Given the description of an element on the screen output the (x, y) to click on. 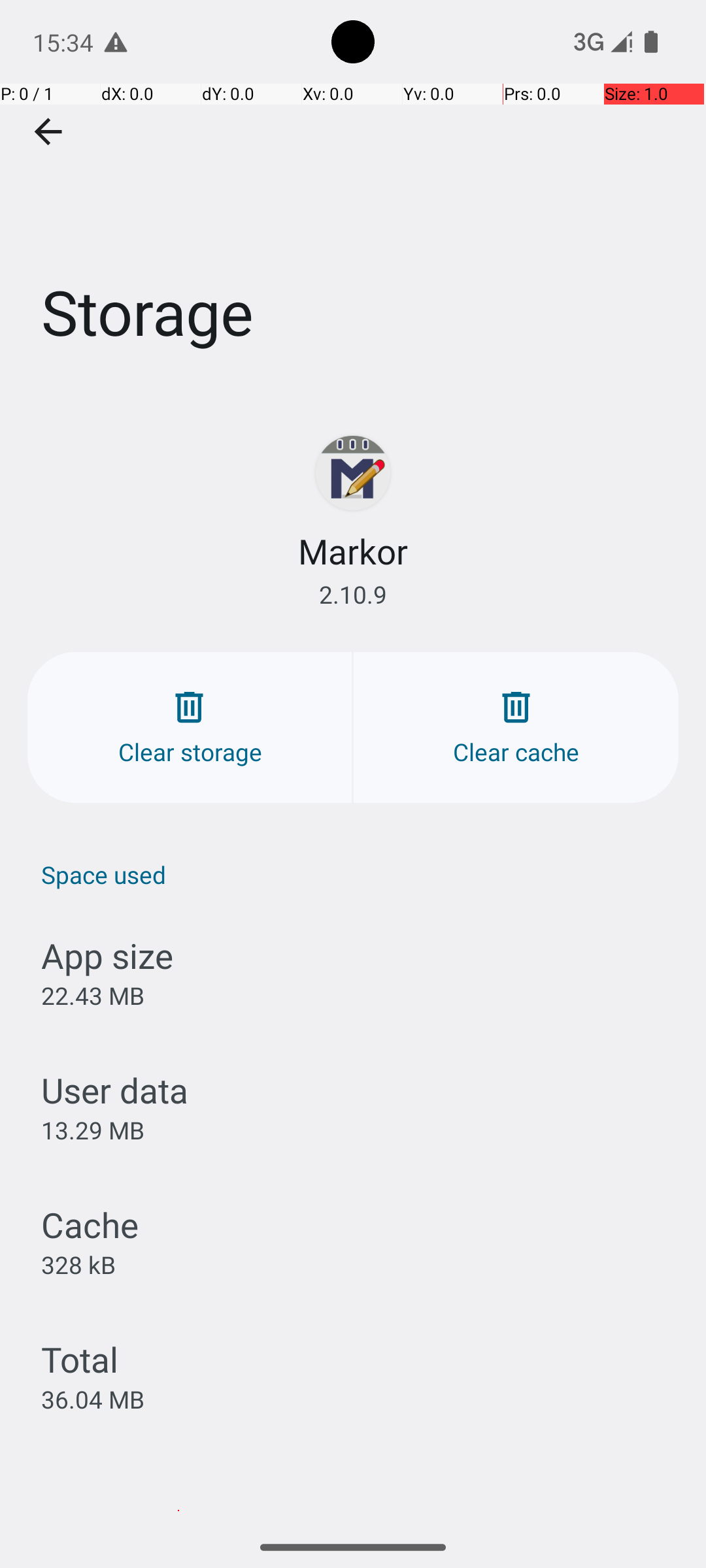
2.10.9 Element type: android.widget.TextView (352, 593)
Clear storage Element type: android.widget.Button (189, 727)
Clear cache Element type: android.widget.Button (515, 727)
Space used Element type: android.widget.TextView (359, 874)
App size Element type: android.widget.TextView (107, 955)
22.43 MB Element type: android.widget.TextView (92, 995)
User data Element type: android.widget.TextView (114, 1089)
13.29 MB Element type: android.widget.TextView (92, 1129)
Cache Element type: android.widget.TextView (89, 1224)
328 kB Element type: android.widget.TextView (78, 1264)
Total Element type: android.widget.TextView (79, 1359)
36.04 MB Element type: android.widget.TextView (92, 1398)
